Given the description of an element on the screen output the (x, y) to click on. 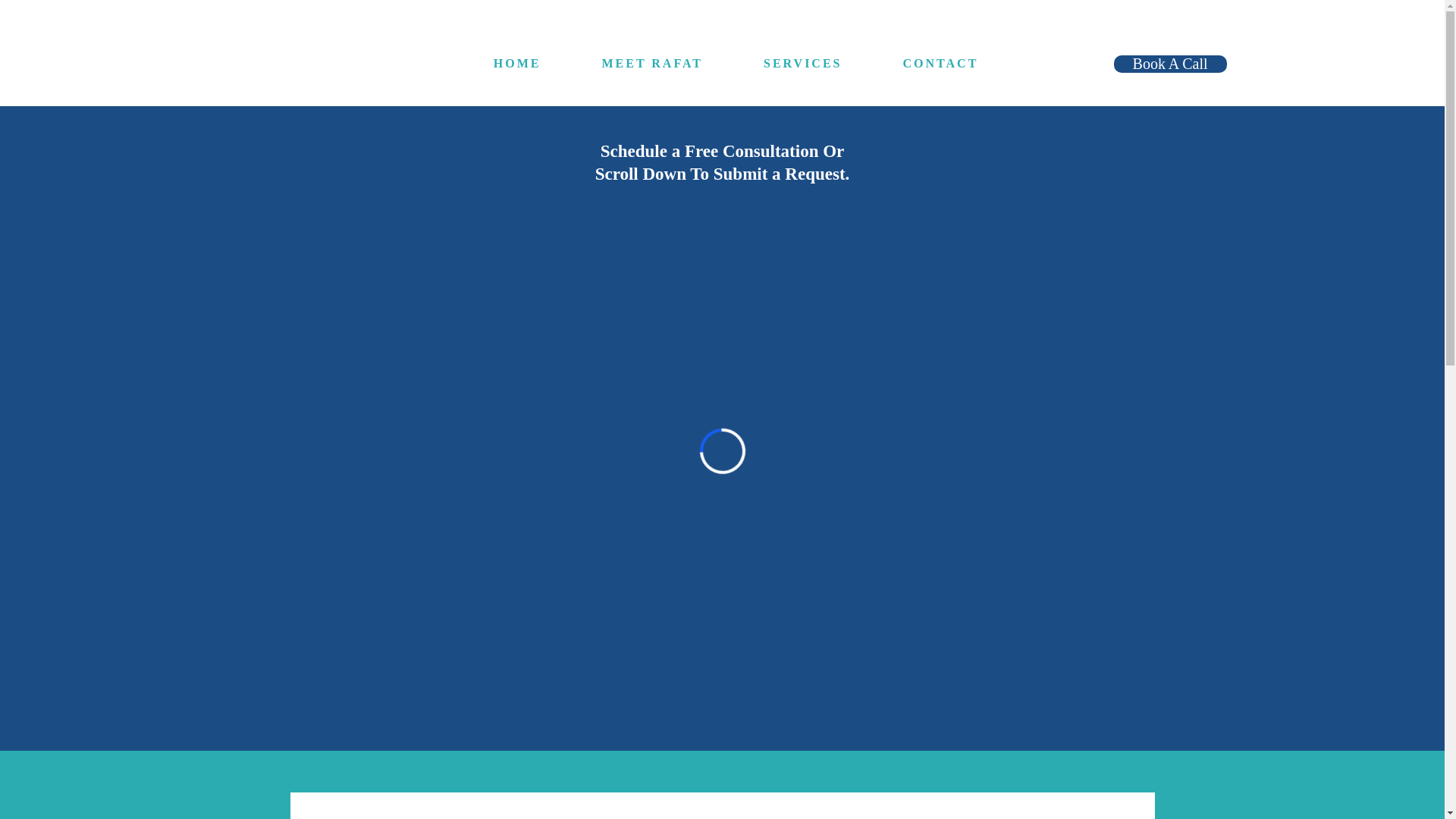
MEET RAFAT (651, 64)
SERVICES (802, 64)
Book A Call (1170, 63)
HOME (517, 64)
CONTACT (940, 64)
